Given the description of an element on the screen output the (x, y) to click on. 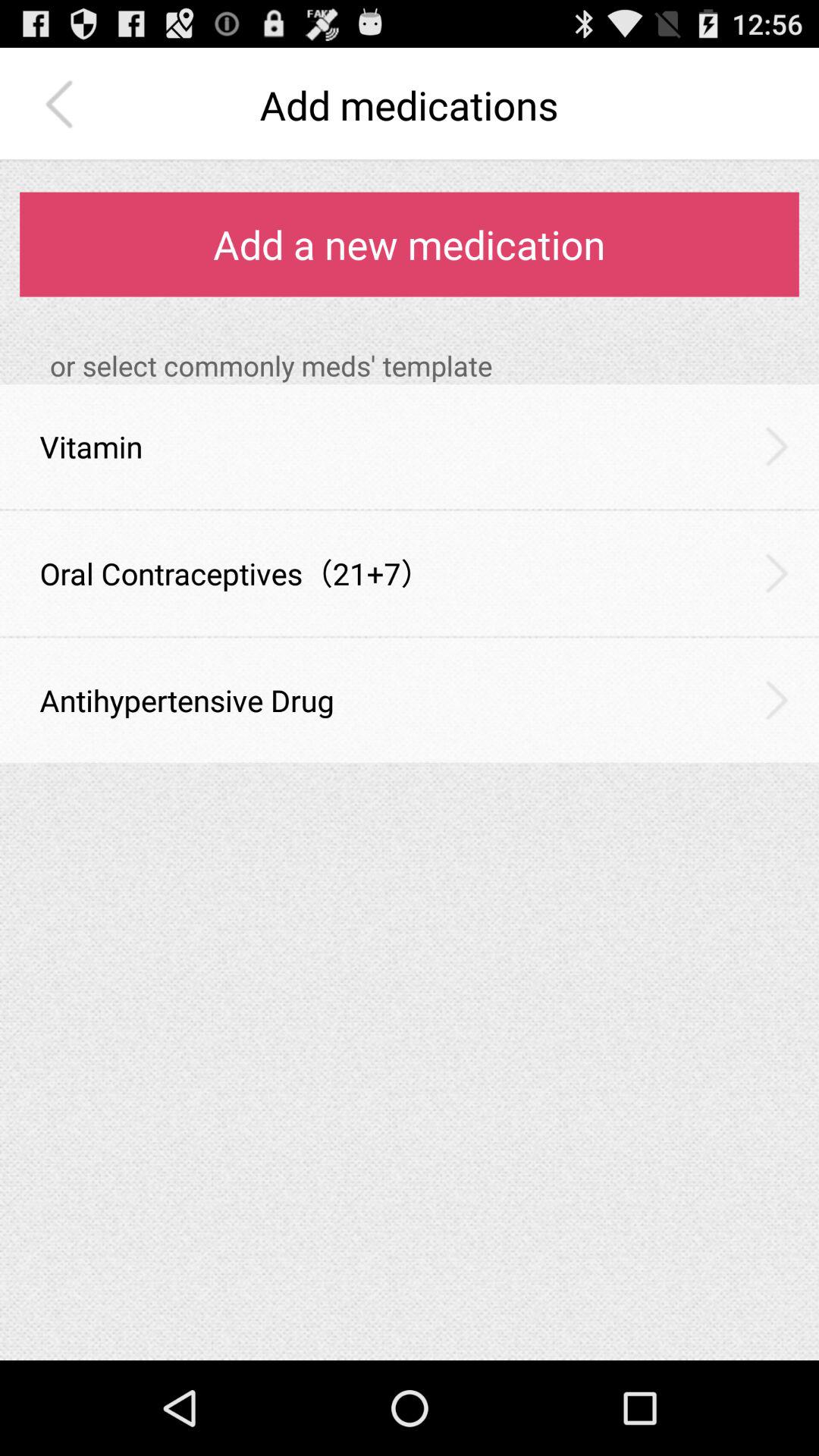
choose icon to the right of oral contraceptives 21 app (776, 572)
